Given the description of an element on the screen output the (x, y) to click on. 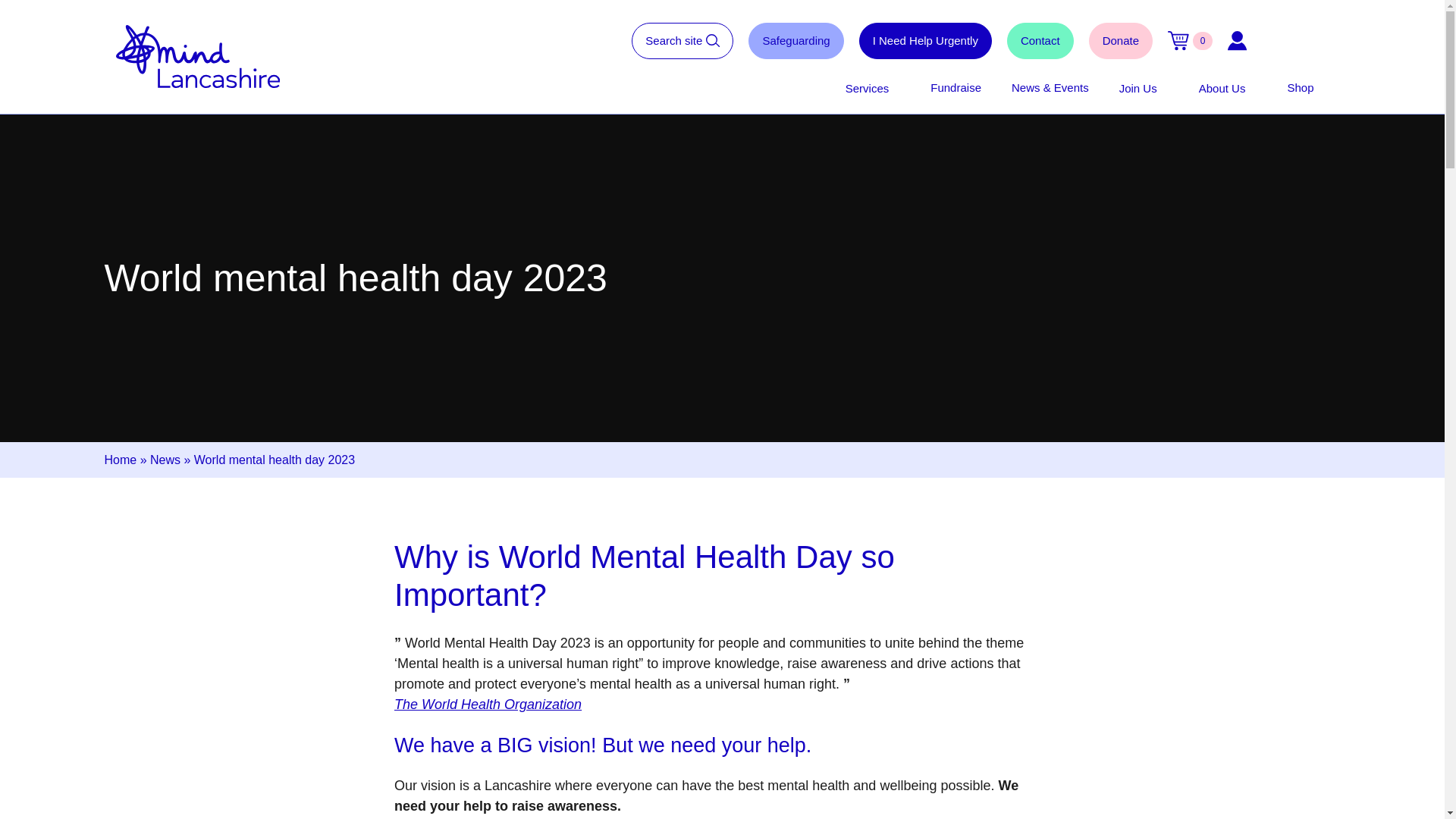
English (1270, 40)
Join Us (1138, 88)
Open menu (1164, 88)
Urdu (1310, 40)
Open menu (1252, 88)
0 (1189, 40)
Polish (1290, 40)
Safeguarding (795, 40)
Contact (1040, 40)
Fundraise (955, 88)
